Given the description of an element on the screen output the (x, y) to click on. 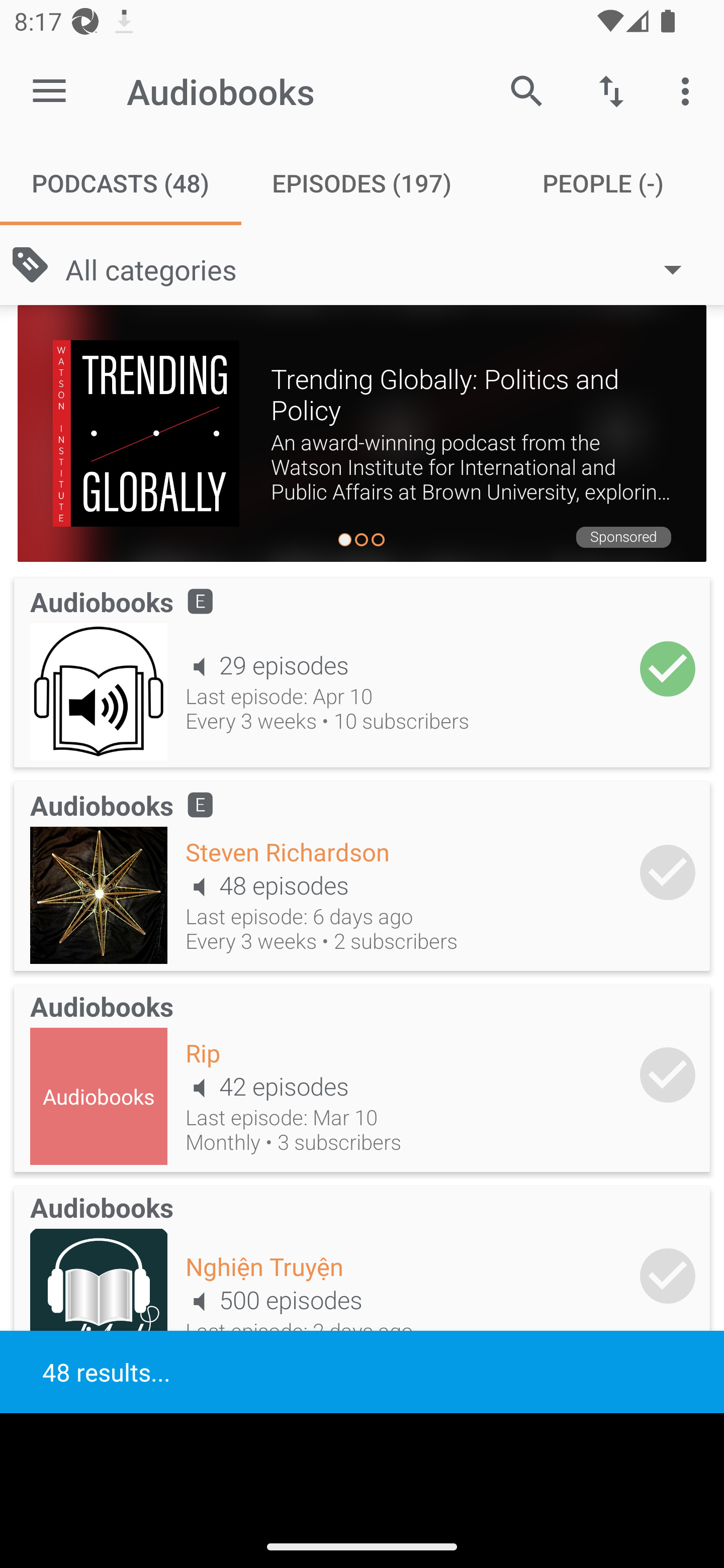
Open navigation sidebar (49, 91)
Search (526, 90)
Sort (611, 90)
More options (688, 90)
Episodes (197) EPISODES (197) (361, 183)
People (-) PEOPLE (-) (603, 183)
All categories (383, 268)
Add (667, 669)
Add (667, 871)
Add (667, 1074)
Add (667, 1276)
